Given the description of an element on the screen output the (x, y) to click on. 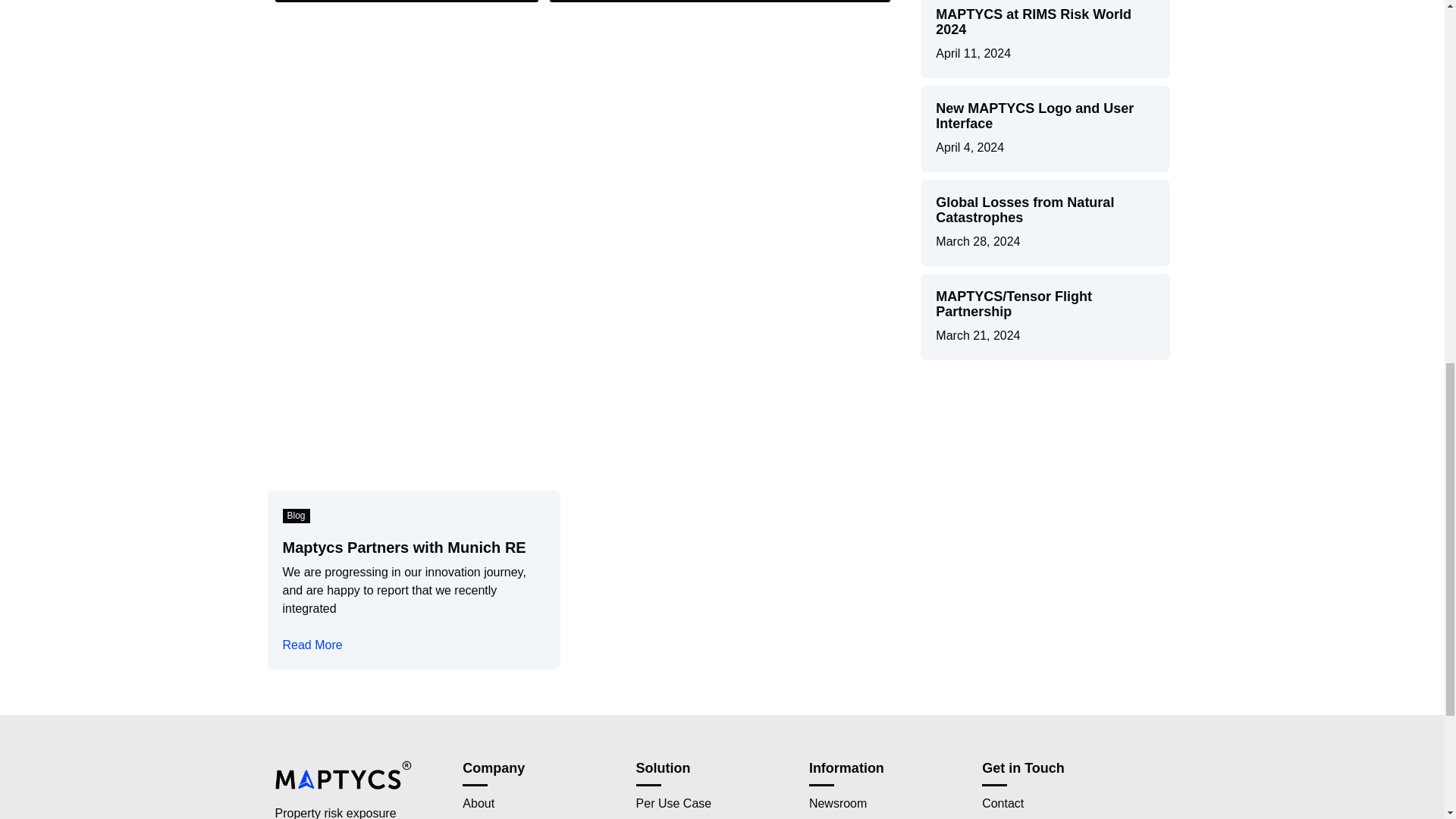
New MAPTYCS Logo and User Interface (1035, 115)
March 28, 2024 (978, 241)
April 4, 2024 (970, 147)
Global Losses from Natural Catastrophes (1024, 209)
April 11, 2024 (973, 54)
MAPTYCS at RIMS Risk World 2024 (1033, 21)
